Given the description of an element on the screen output the (x, y) to click on. 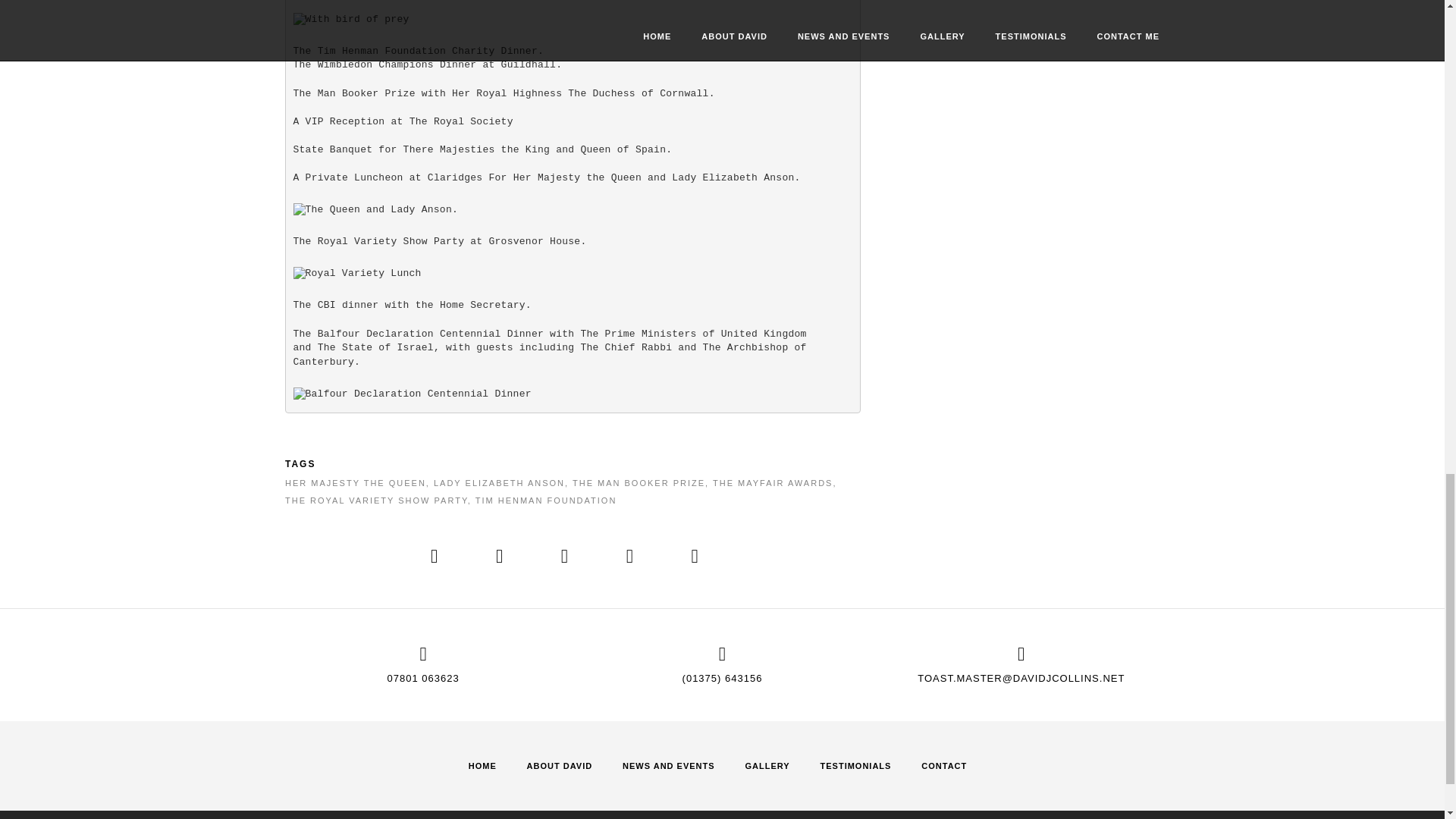
TIM HENMAN FOUNDATION (546, 500)
THE ROYAL VARIETY SHOW PARTY (376, 500)
THE MAYFAIR AWARDS (772, 482)
HER MAJESTY THE QUEEN (355, 482)
LADY ELIZABETH ANSON (498, 482)
THE MAN BOOKER PRIZE (638, 482)
